Given the description of an element on the screen output the (x, y) to click on. 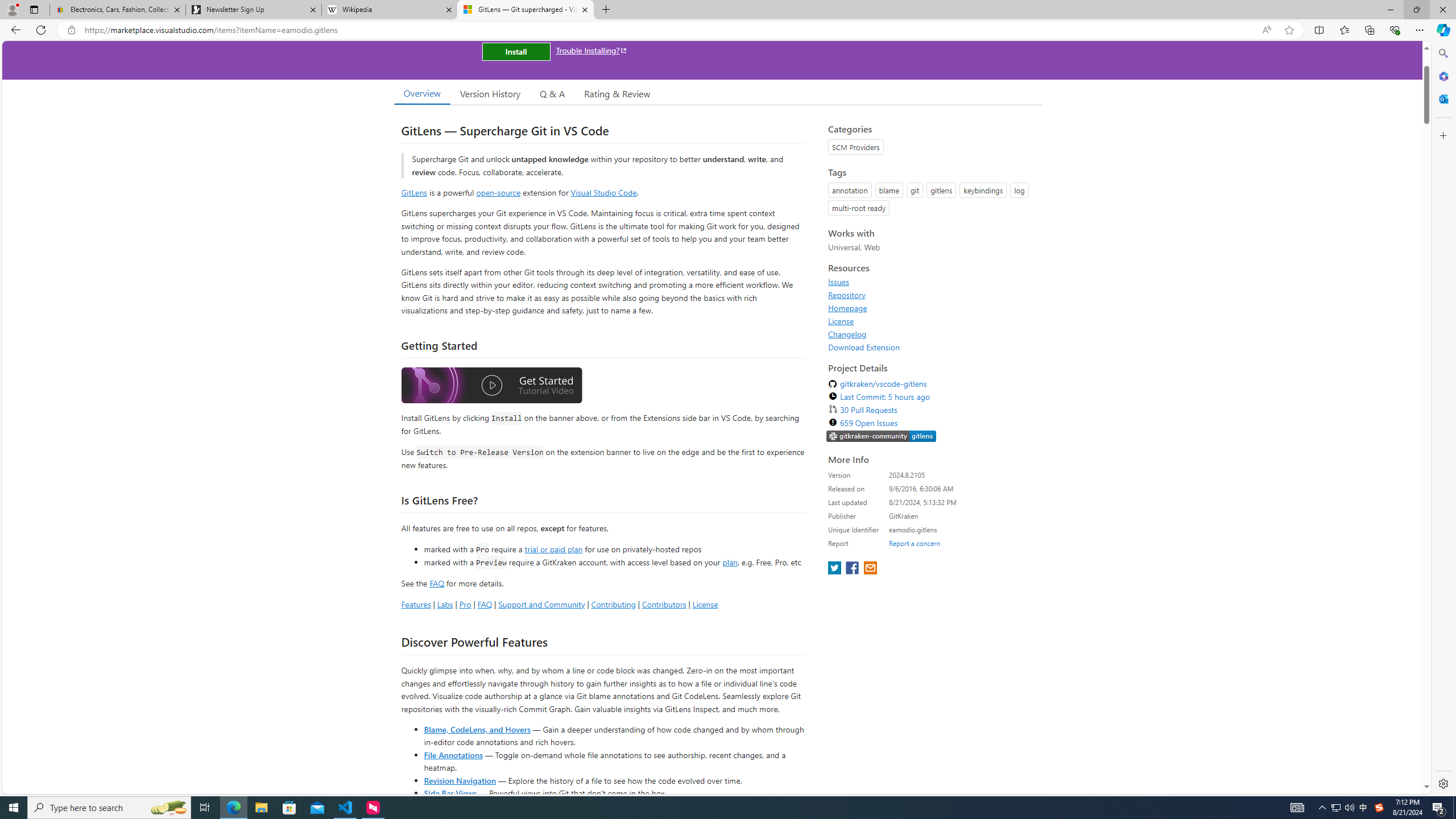
Changelog (847, 333)
Install (515, 51)
share extension on facebook (853, 568)
Visual Studio Code (603, 192)
share extension on twitter (835, 568)
Repository (931, 294)
